Given the description of an element on the screen output the (x, y) to click on. 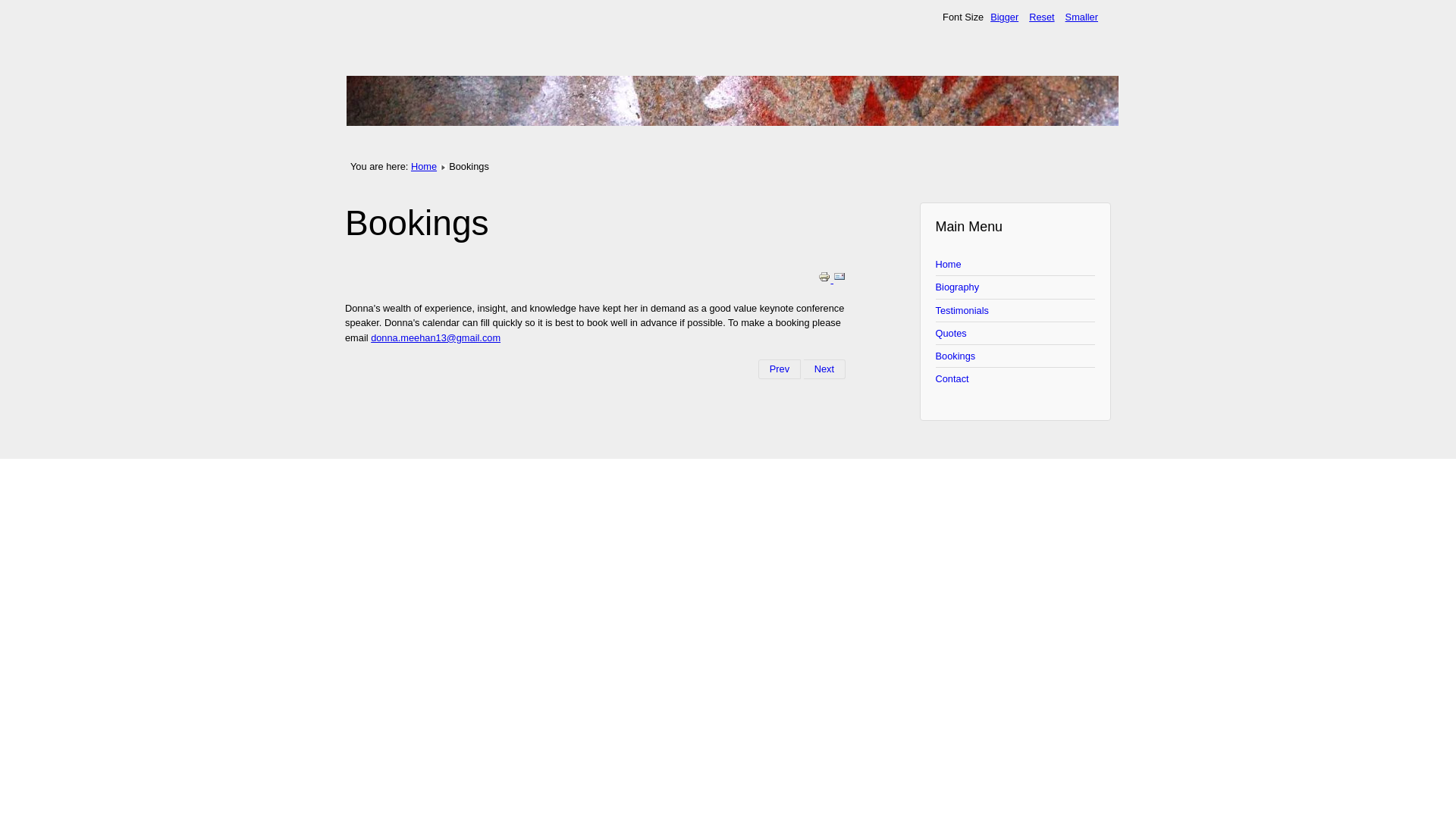
Next Element type: text (824, 369)
Smaller Element type: text (1081, 16)
Home Element type: text (423, 166)
Biography Element type: text (1015, 287)
Print article < Bookings > Element type: hover (825, 279)
Bigger Element type: text (1004, 16)
Bookings Element type: text (1015, 356)
donna.meehan13@gmail.com Element type: text (435, 337)
Reset Element type: text (1041, 16)
Quotes Element type: text (1015, 333)
Prev Element type: text (779, 369)
Email this link to a friend Element type: hover (839, 279)
Contact Element type: text (1015, 378)
Home Element type: text (1015, 264)
Testimonials Element type: text (1015, 310)
